Given the description of an element on the screen output the (x, y) to click on. 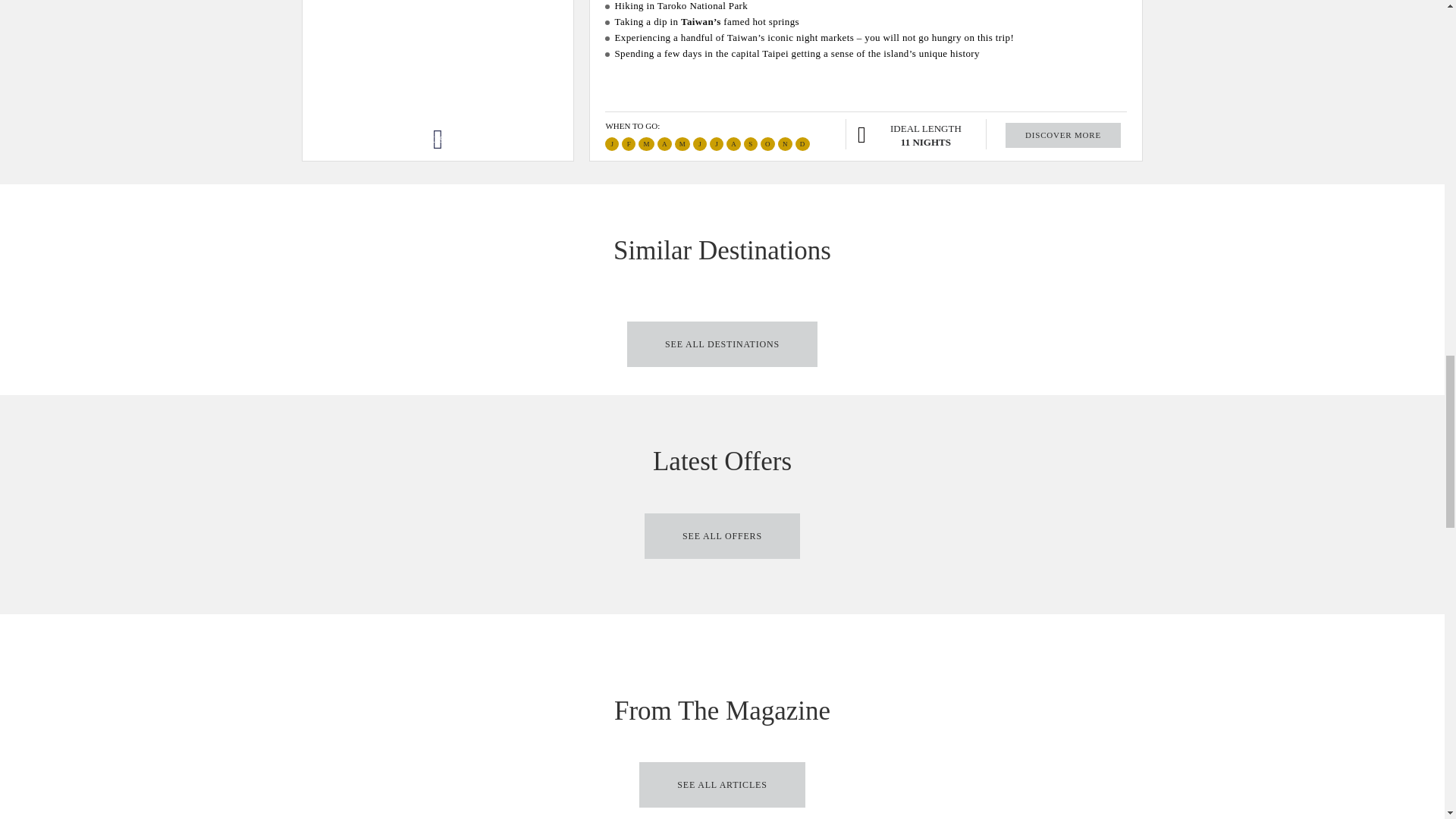
May (682, 143)
December (801, 143)
July (716, 143)
April (664, 143)
June (699, 143)
September (750, 143)
November (784, 143)
October (767, 143)
January (611, 143)
March (646, 143)
February (627, 143)
August (733, 143)
